Given the description of an element on the screen output the (x, y) to click on. 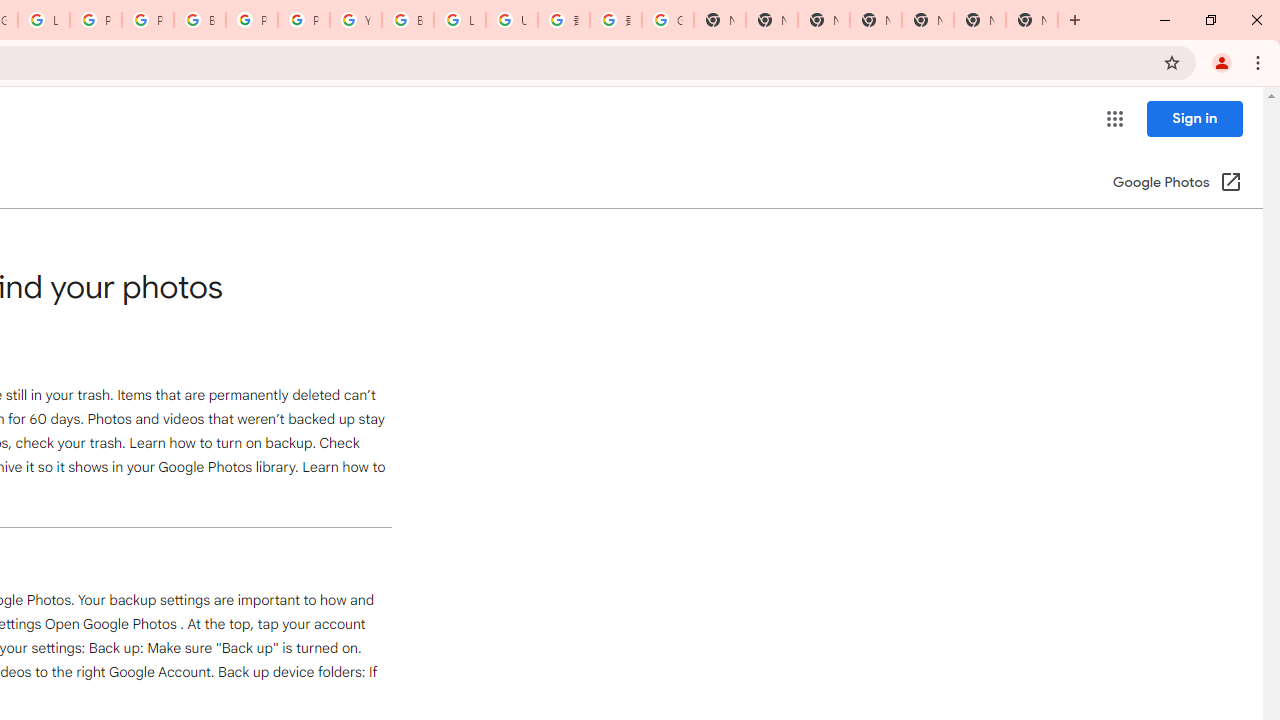
New Tab (1032, 20)
Privacy Help Center - Policies Help (147, 20)
Google Photos (Open in a new window) (1177, 183)
